Given the description of an element on the screen output the (x, y) to click on. 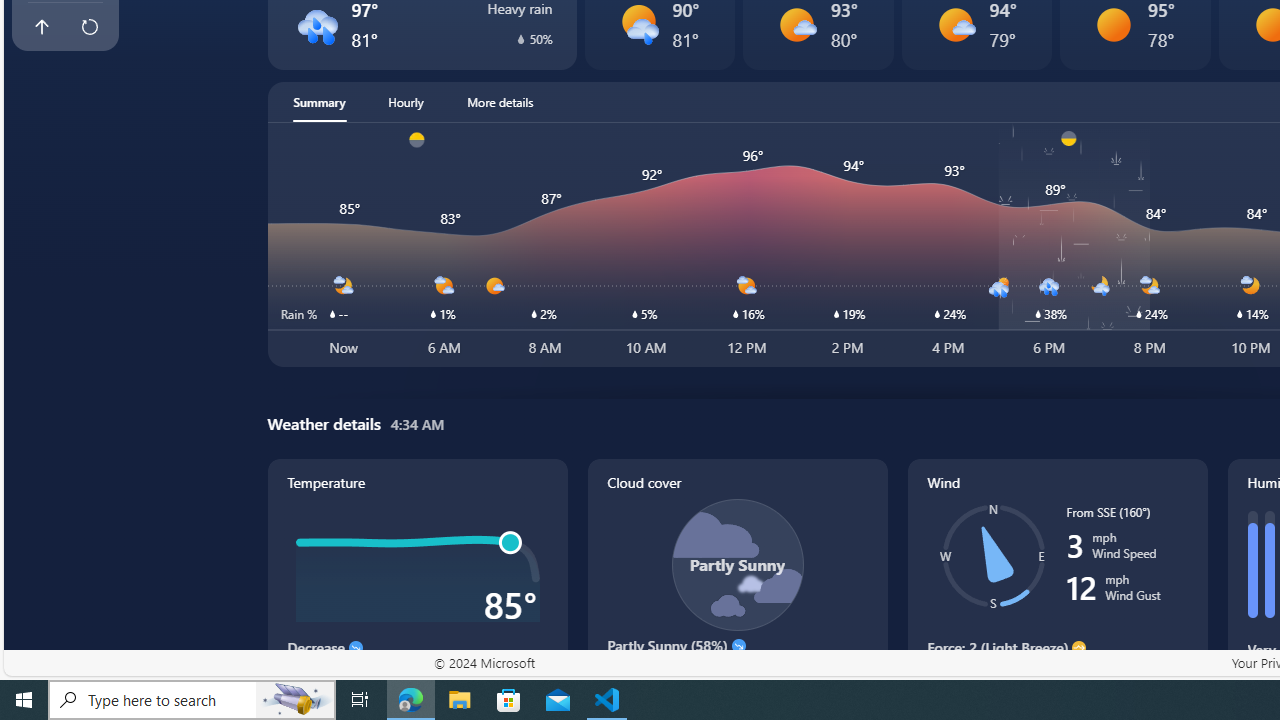
Refresh this page (89, 26)
Cloud cover (737, 584)
Precipitation (520, 38)
Hourly (406, 101)
